Given the description of an element on the screen output the (x, y) to click on. 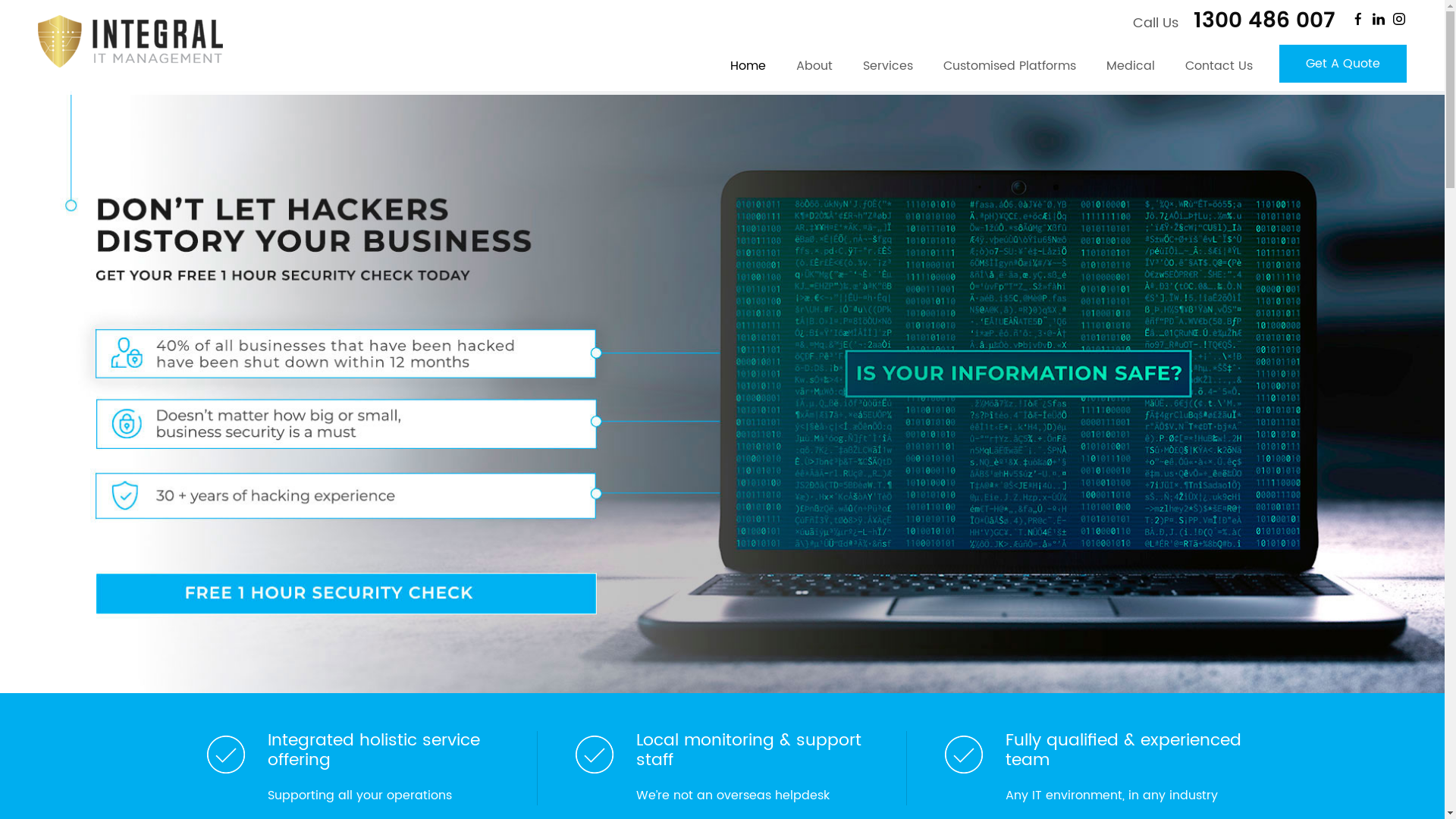
INTEGRAL IT MANAGEMENT Element type: text (129, 41)
About Element type: text (814, 69)
Facebook Element type: hover (1357, 18)
Home Element type: text (748, 69)
1300 486 007 Element type: text (1258, 20)
Services Element type: text (887, 69)
Facebook Element type: hover (1357, 18)
Instagram Element type: hover (1398, 18)
Linkedin Element type: hover (1378, 18)
Contact Us Element type: text (1218, 69)
Medical Element type: text (1130, 69)
Instagram Element type: hover (1399, 18)
Customised Platforms Element type: text (1009, 69)
Linkedin Element type: hover (1378, 18)
